Given the description of an element on the screen output the (x, y) to click on. 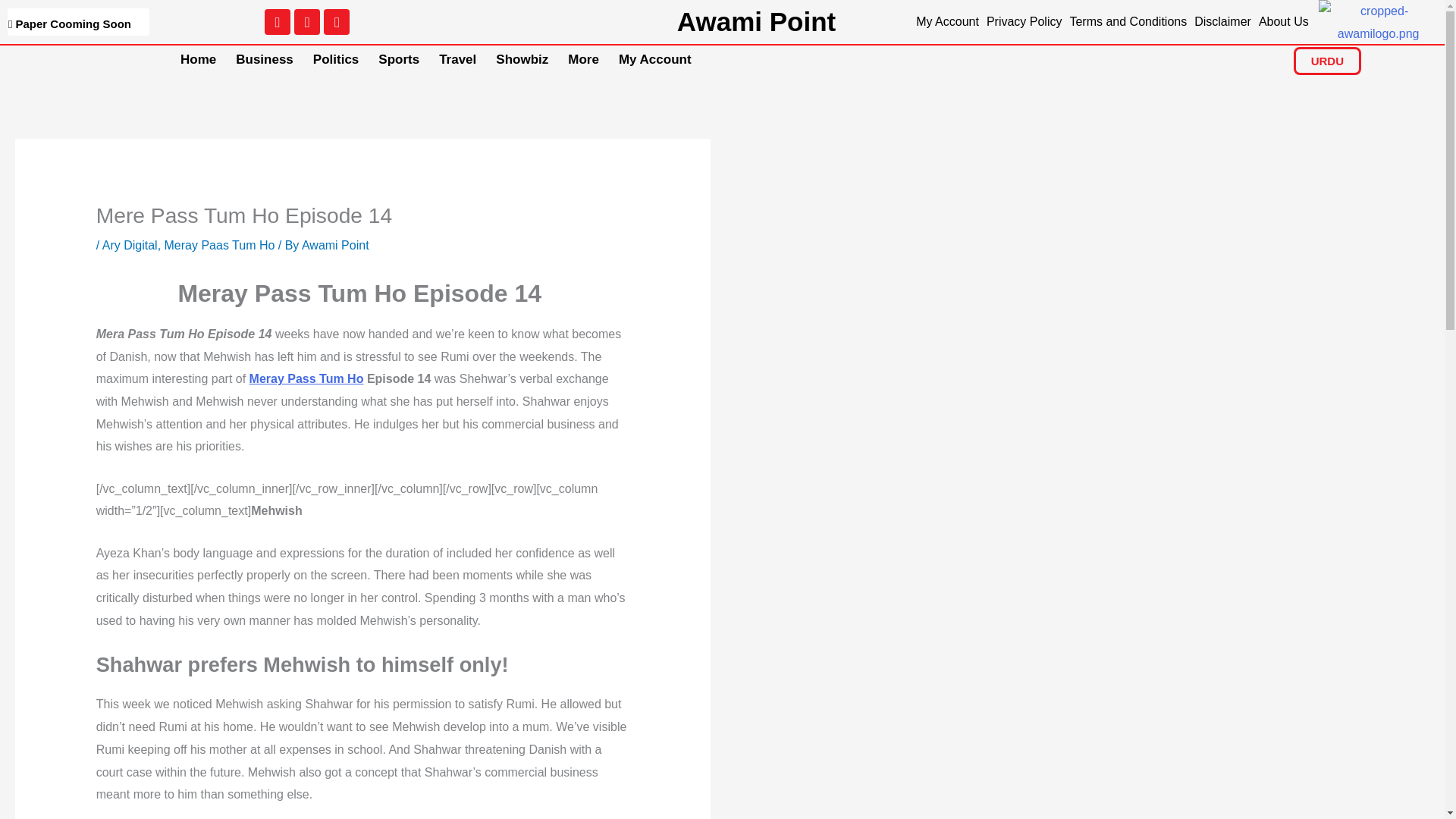
My Account (654, 60)
Showbiz (521, 60)
View all posts by Awami Point (335, 245)
Travel (457, 60)
Business (264, 60)
URDU (1327, 60)
Paper Cooming Soon (78, 22)
Sports (398, 60)
Disclaimer (1223, 21)
My Account (947, 21)
